Given the description of an element on the screen output the (x, y) to click on. 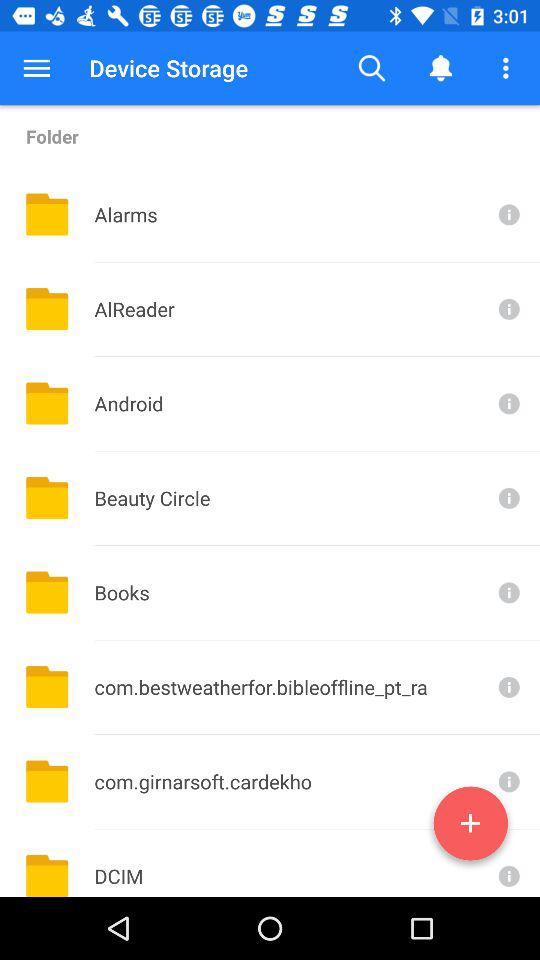
get more info (507, 214)
